Given the description of an element on the screen output the (x, y) to click on. 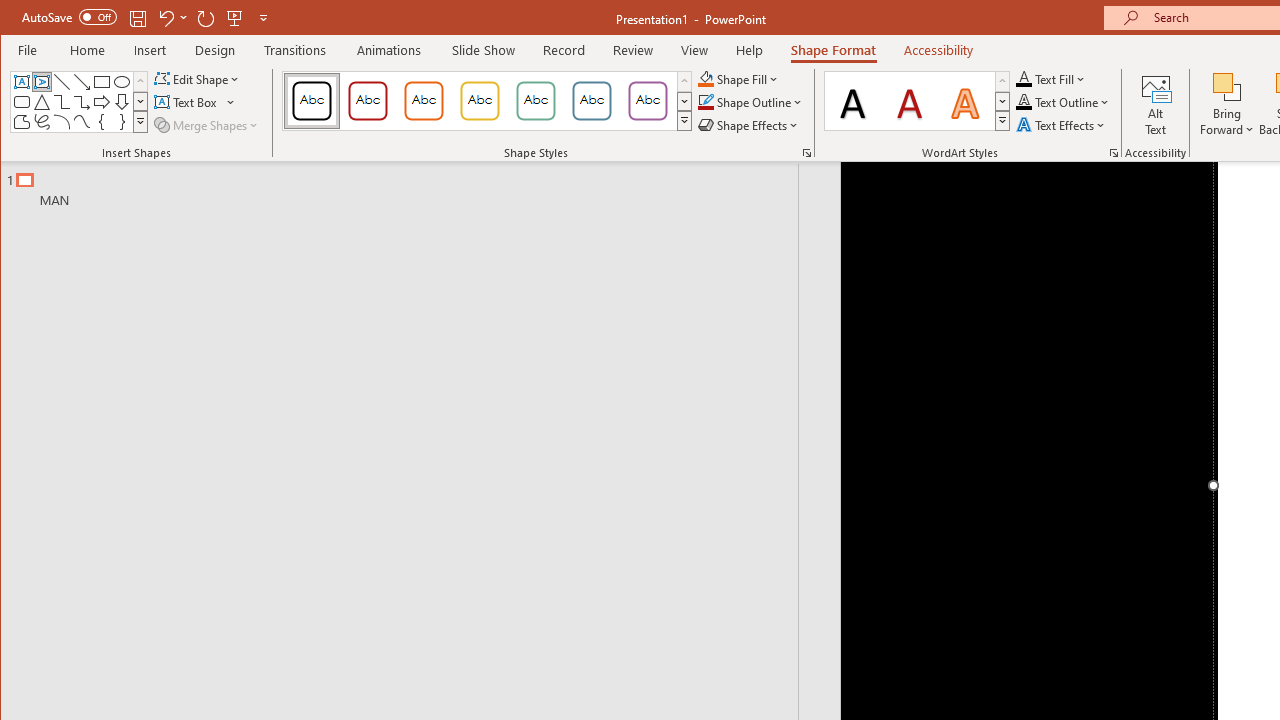
Colored Outline - Green, Accent 4 (536, 100)
Format Text Effects... (1113, 152)
Colored Outline - Black, Dark 1 (312, 100)
